Given the description of an element on the screen output the (x, y) to click on. 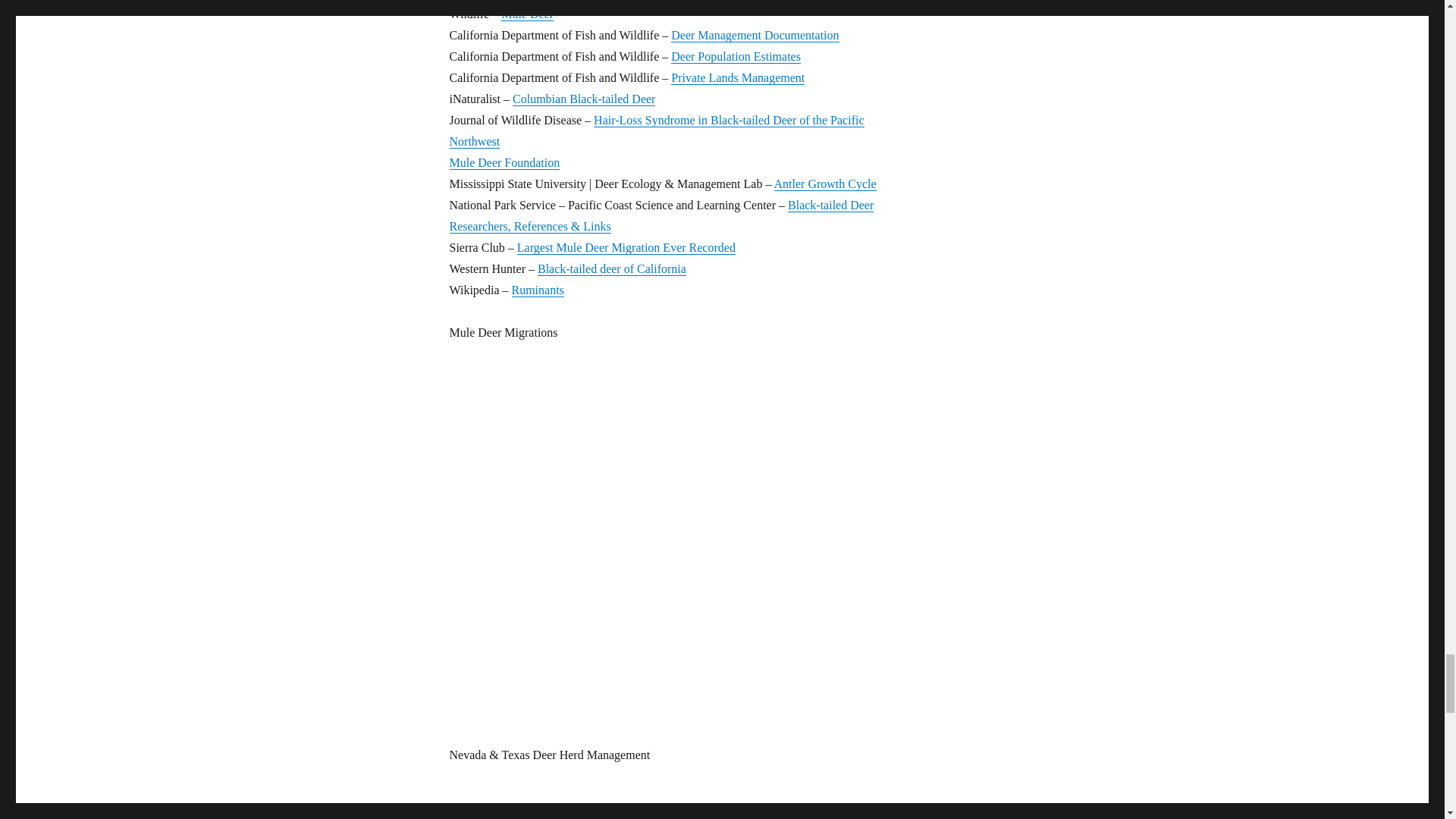
Mule Deer Foundation (503, 162)
Ruminants (537, 289)
Nevada Hunting: Area 6 Emergency Hunt (676, 803)
Deer Management Documentation (754, 34)
Private Lands Management (738, 77)
Mule Deer (526, 13)
Deer Population Estimates (735, 56)
Antler Growth Cycle (825, 183)
Black-tailed deer of California (611, 268)
Largest Mule Deer Migration Ever Recorded (625, 246)
Columbian Black-tailed Deer (583, 98)
